Given the description of an element on the screen output the (x, y) to click on. 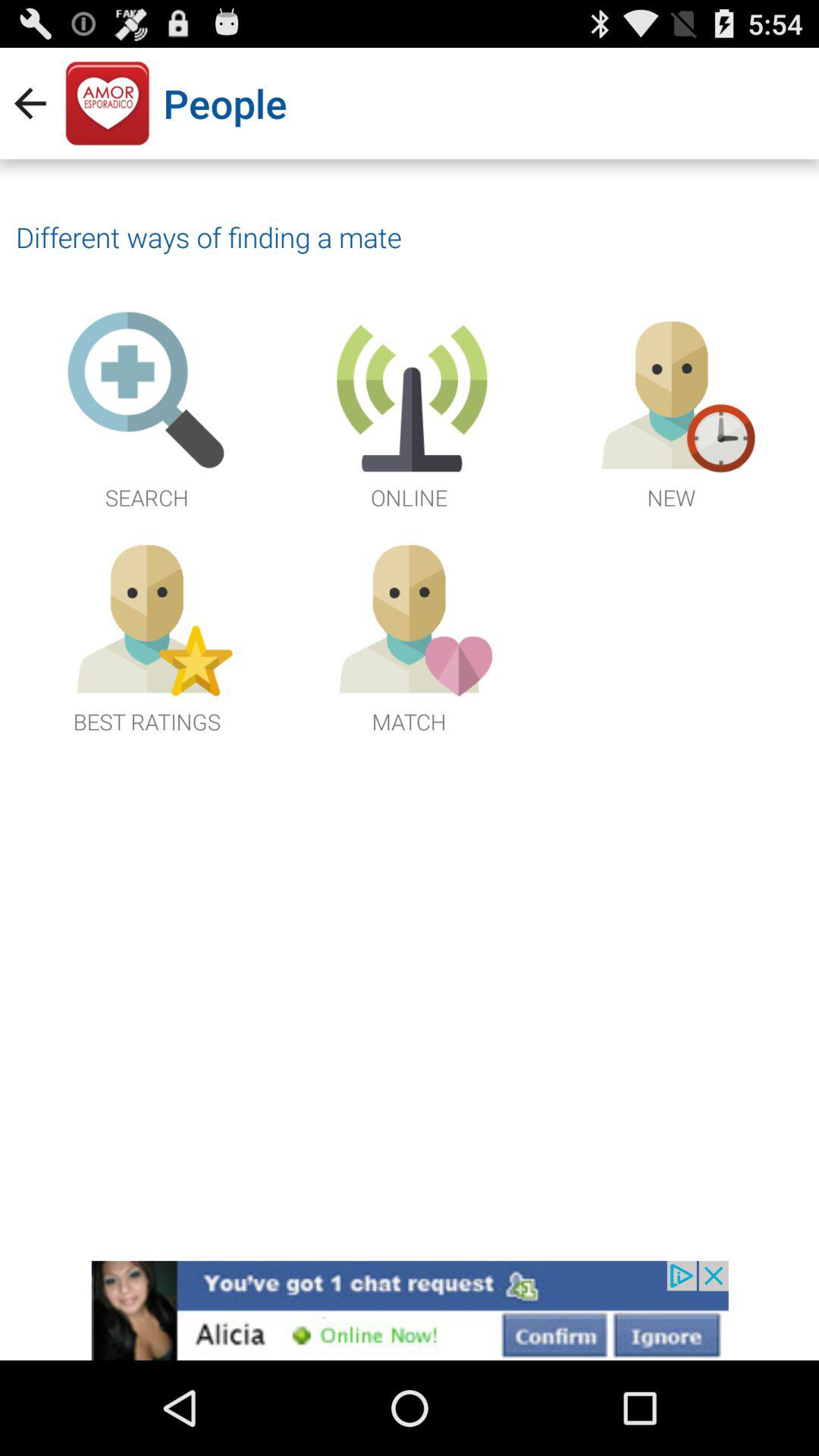
open best ratings (146, 634)
